Given the description of an element on the screen output the (x, y) to click on. 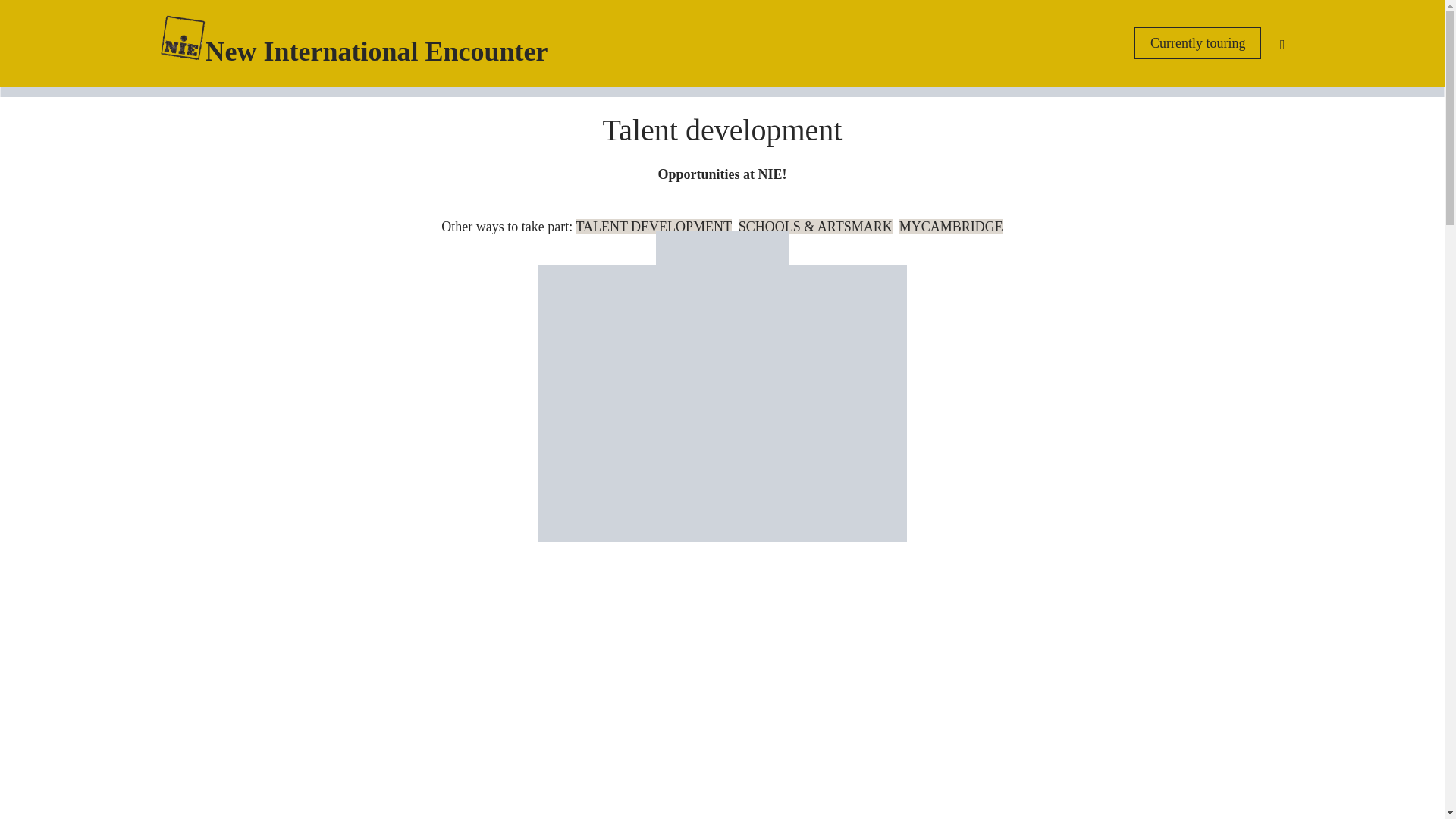
New International Encounter (368, 51)
Workshop NIE (722, 403)
Currently touring (1197, 42)
